Given the description of an element on the screen output the (x, y) to click on. 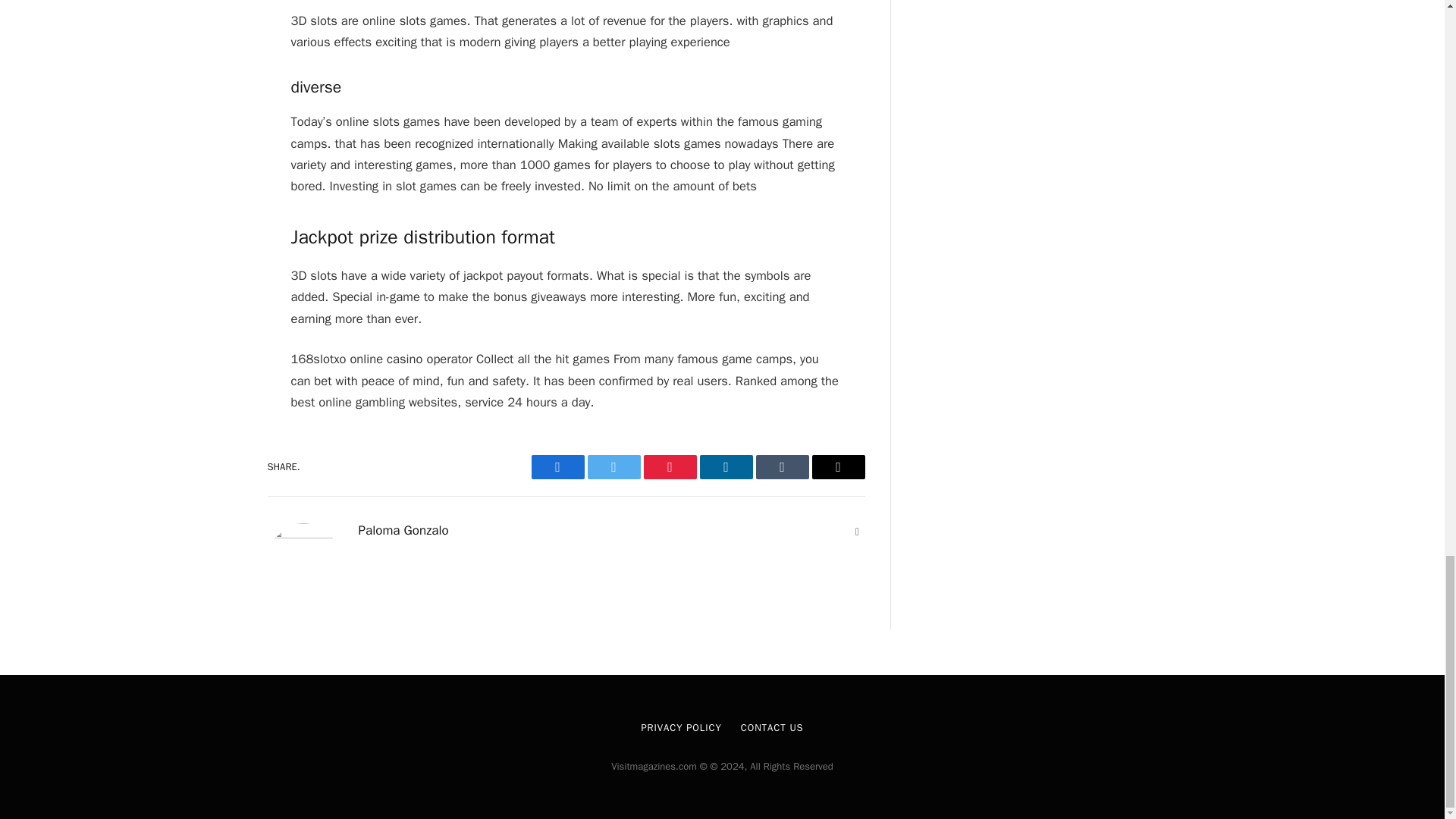
Twitter (613, 467)
Pinterest (669, 467)
Facebook (557, 467)
